Given the description of an element on the screen output the (x, y) to click on. 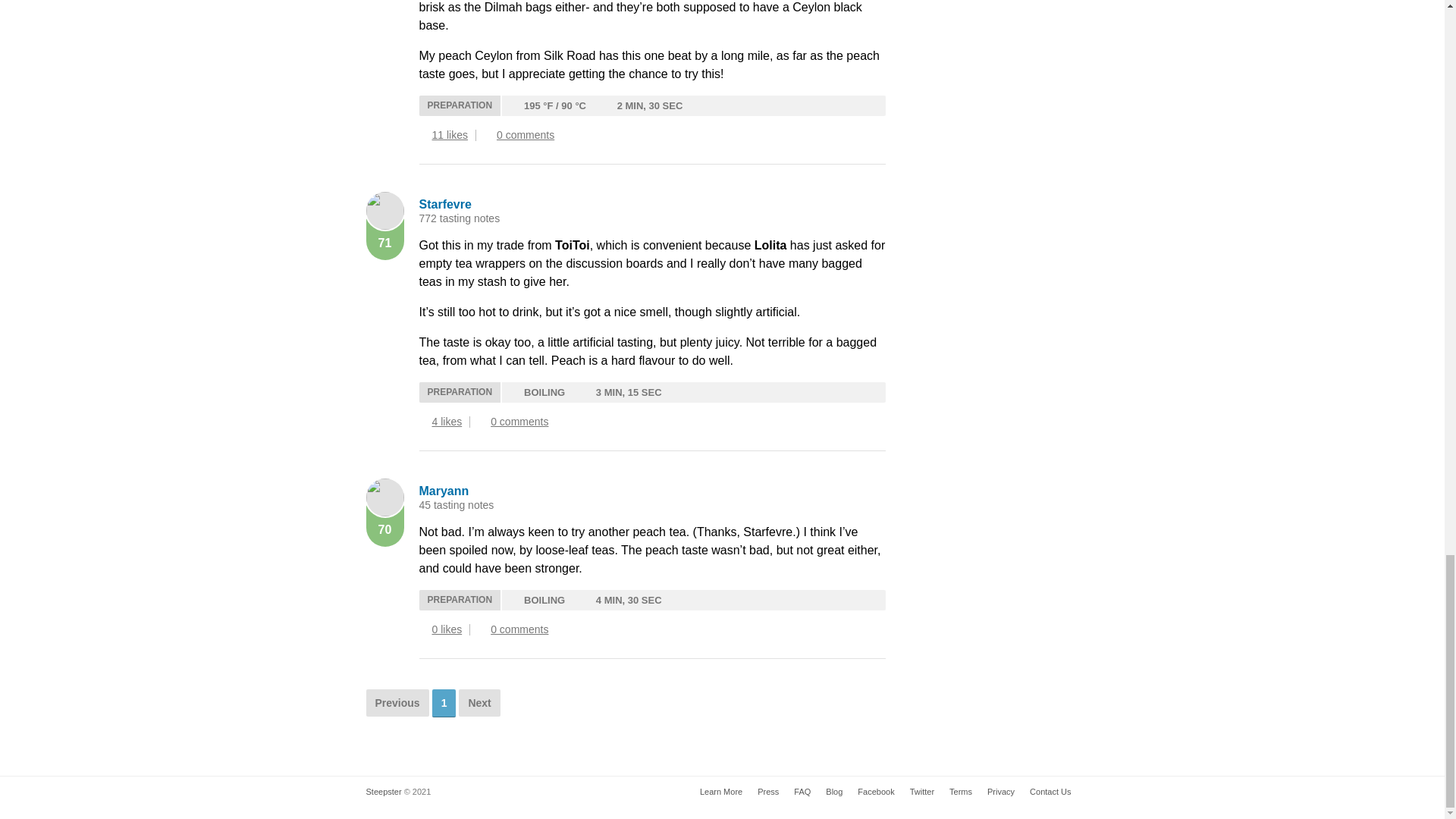
Like This (423, 629)
Link to the Official Steepster Blog (834, 791)
Like This (423, 135)
Like This (423, 421)
Take a Tour of Steepster (721, 791)
Behind the scenes info on Steepster (767, 791)
Link to Terms of Use (960, 791)
Steepster on Twitter (922, 791)
Steepster on Facebook (875, 791)
Link to Privacy Policy (1000, 791)
